Given the description of an element on the screen output the (x, y) to click on. 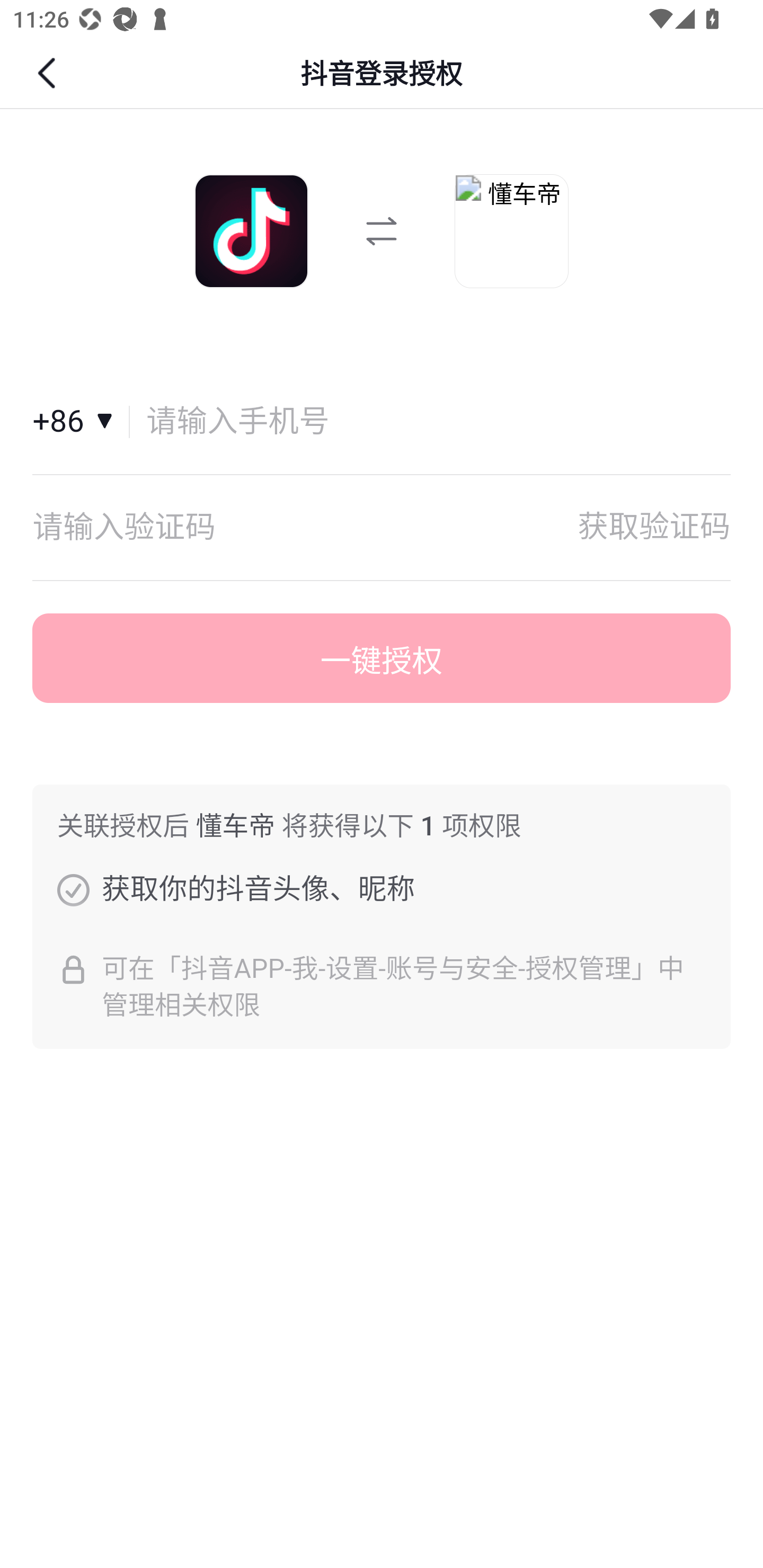
返回 (49, 72)
国家和地区+86 (81, 421)
获取验证码 (653, 526)
一键授权 (381, 658)
获取你的抖音头像、昵称 (72, 889)
